Given the description of an element on the screen output the (x, y) to click on. 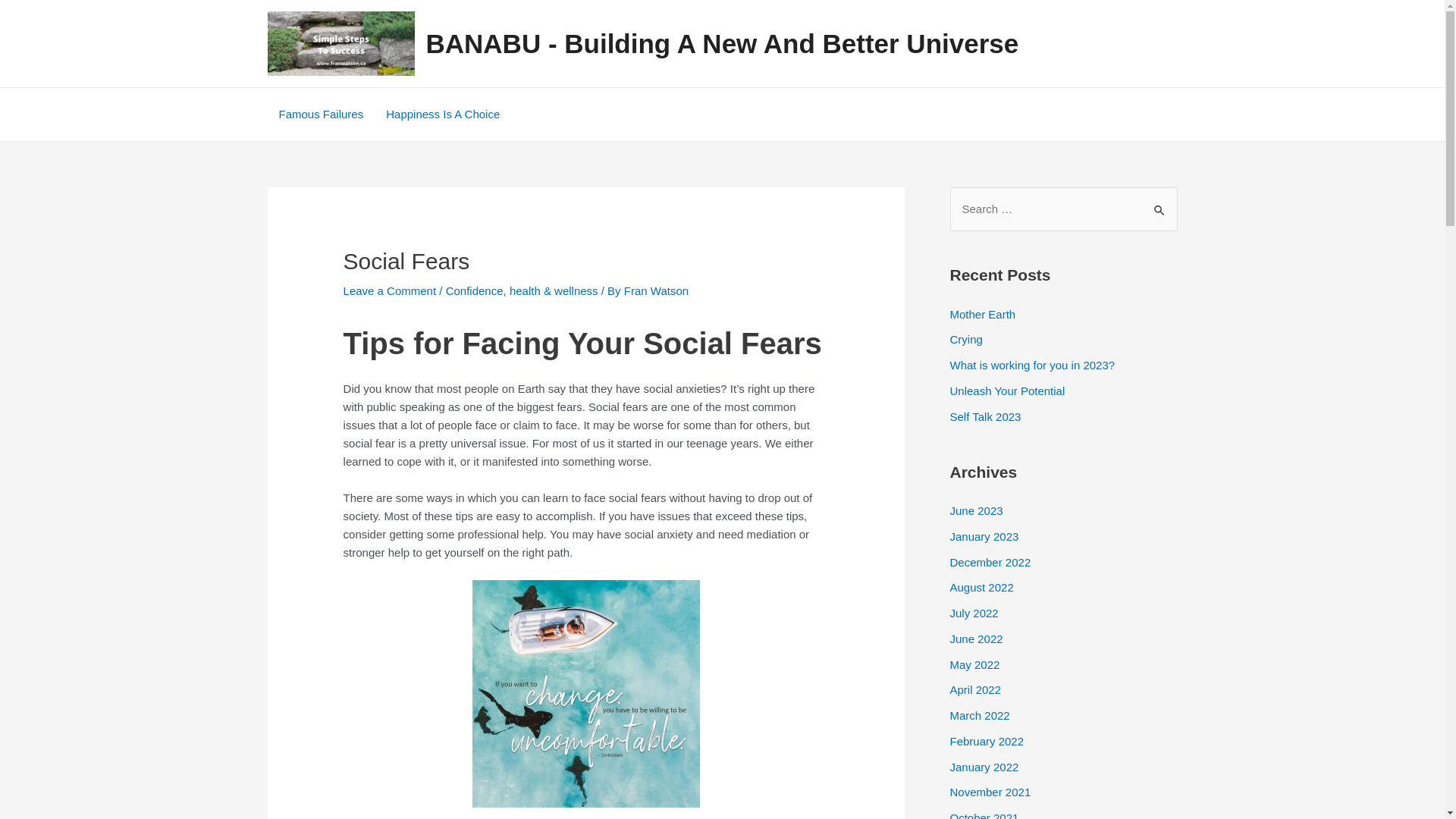
July 2022 Element type: text (973, 612)
Mother Earth Element type: text (982, 313)
February 2022 Element type: text (986, 740)
January 2023 Element type: text (983, 536)
March 2022 Element type: text (979, 715)
May 2022 Element type: text (974, 664)
June 2022 Element type: text (975, 638)
Happiness Is A Choice Element type: text (442, 114)
Fran Watson Element type: text (656, 290)
Search Element type: text (1160, 202)
November 2021 Element type: text (989, 791)
Crying Element type: text (965, 338)
Confidence Element type: text (474, 290)
December 2022 Element type: text (989, 561)
August 2022 Element type: text (981, 586)
BANABU - Building A New And Better Universe Element type: text (722, 43)
Leave a Comment Element type: text (389, 290)
What is working for you in 2023? Element type: text (1031, 364)
April 2022 Element type: text (975, 689)
Unleash Your Potential Element type: text (1006, 390)
Famous Failures Element type: text (320, 114)
January 2022 Element type: text (983, 765)
Self Talk 2023 Element type: text (984, 415)
June 2023 Element type: text (975, 510)
health & wellness Element type: text (553, 290)
